Given the description of an element on the screen output the (x, y) to click on. 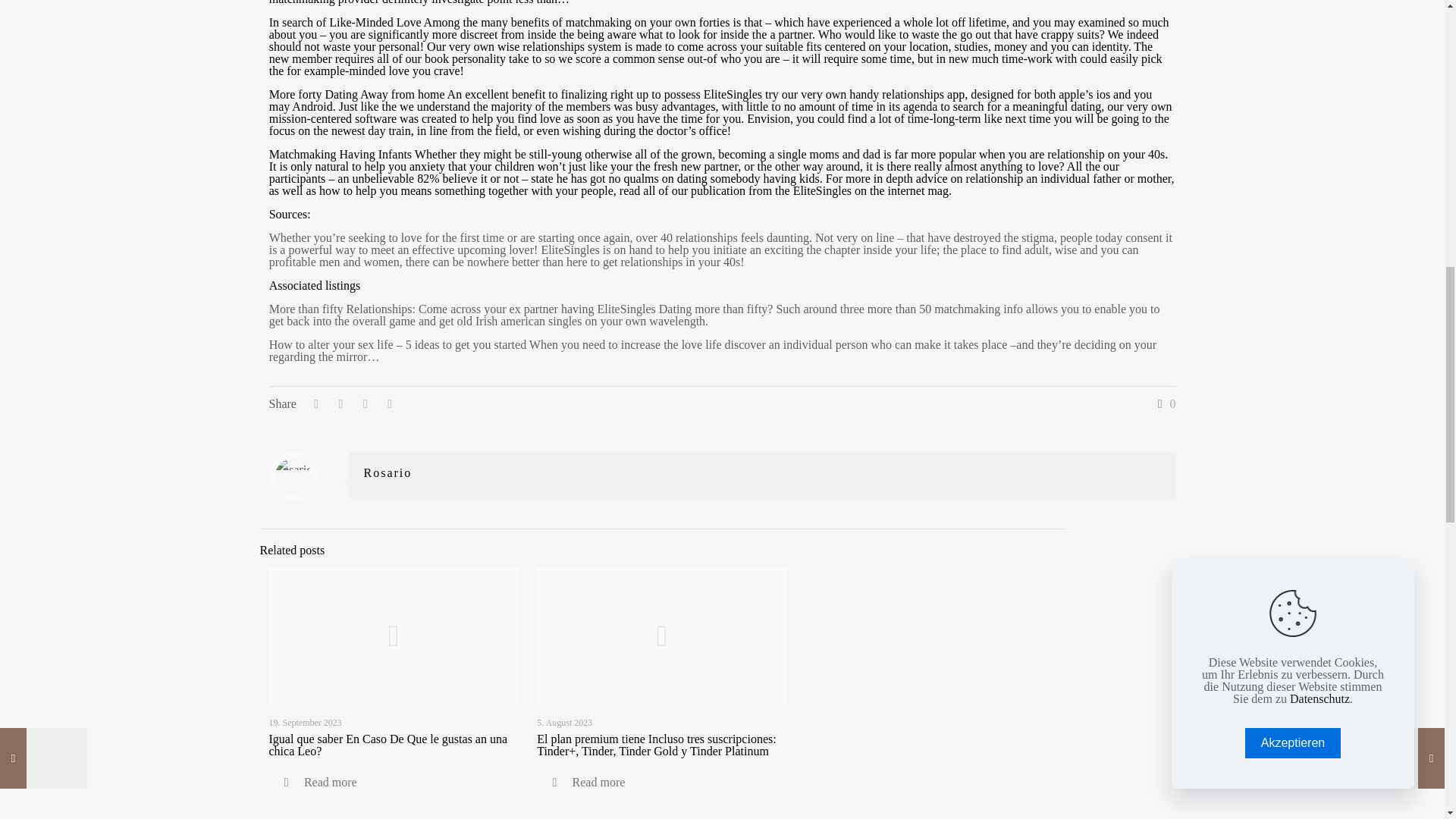
Igual que saber En Caso De Que le gustas an una chica Leo? (386, 744)
Read more (319, 782)
Rosario (388, 472)
0 (1162, 404)
Read more (588, 782)
